Given the description of an element on the screen output the (x, y) to click on. 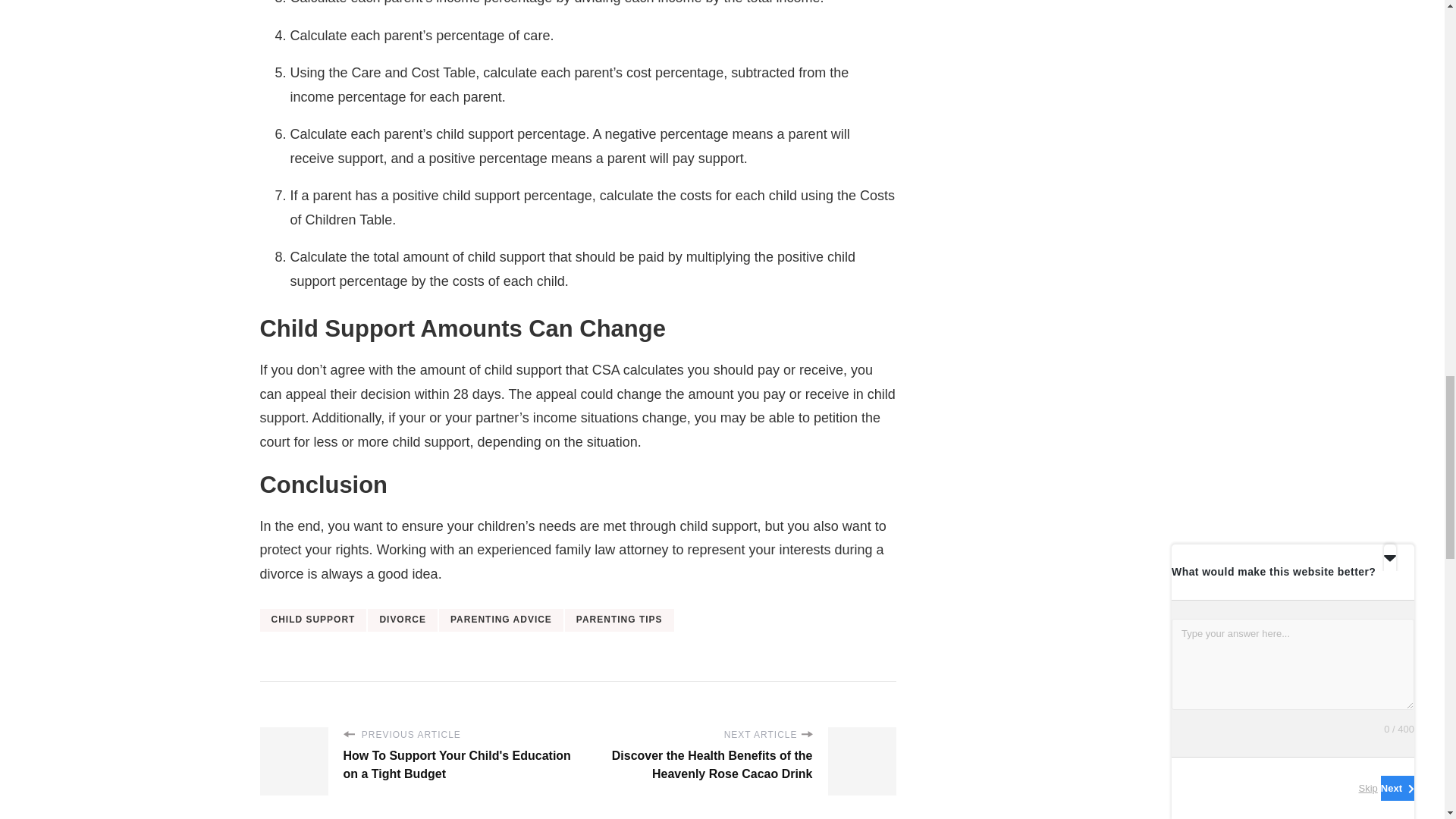
CHILD SUPPORT (312, 620)
DIVORCE (403, 620)
PARENTING ADVICE (501, 620)
PARENTING TIPS (619, 620)
